Given the description of an element on the screen output the (x, y) to click on. 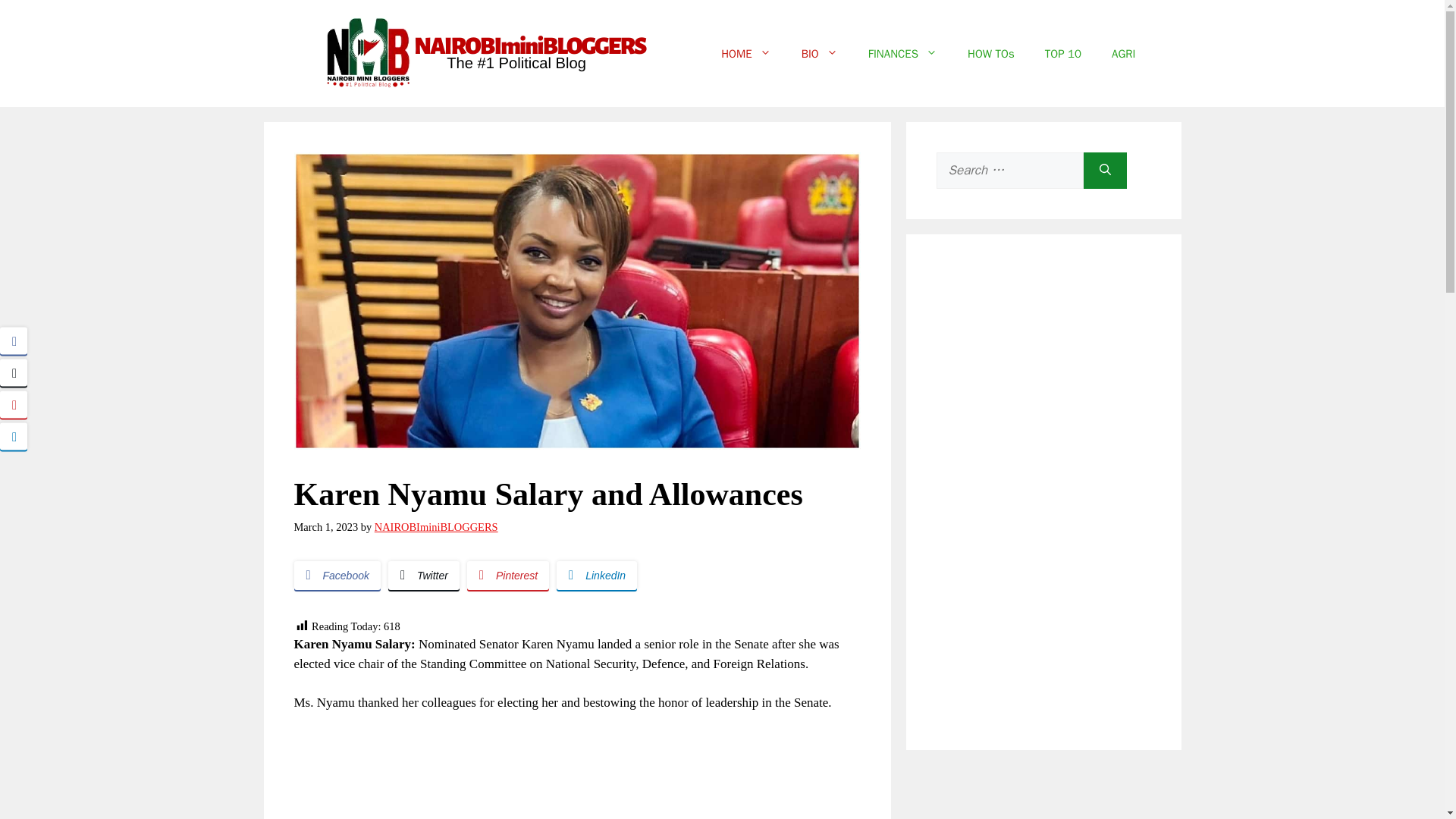
NAIROBIminiBLOGGERS (435, 526)
Pinterest (507, 575)
Advertisement (577, 775)
BIO (819, 53)
HOW TOs (990, 53)
HOME (746, 53)
View all posts by NAIROBIminiBLOGGERS (435, 526)
Twitter (424, 575)
FINANCES (902, 53)
LinkedIn (596, 575)
